Given the description of an element on the screen output the (x, y) to click on. 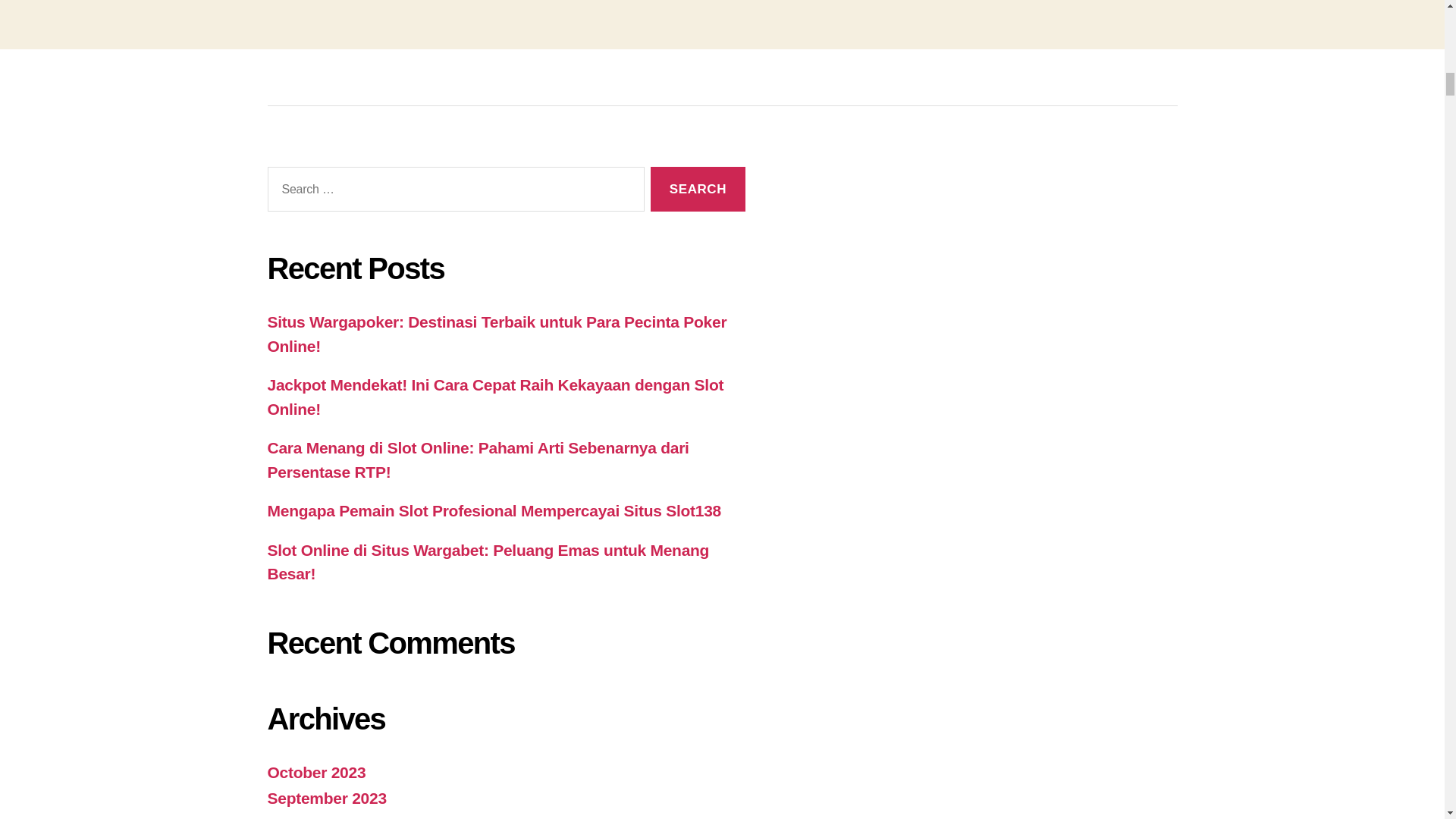
September 2023 (325, 797)
Search (697, 189)
Search (697, 189)
Search (697, 189)
October 2023 (315, 772)
Mengapa Pemain Slot Profesional Mempercayai Situs Slot138 (493, 510)
August 2023 (312, 817)
